Given the description of an element on the screen output the (x, y) to click on. 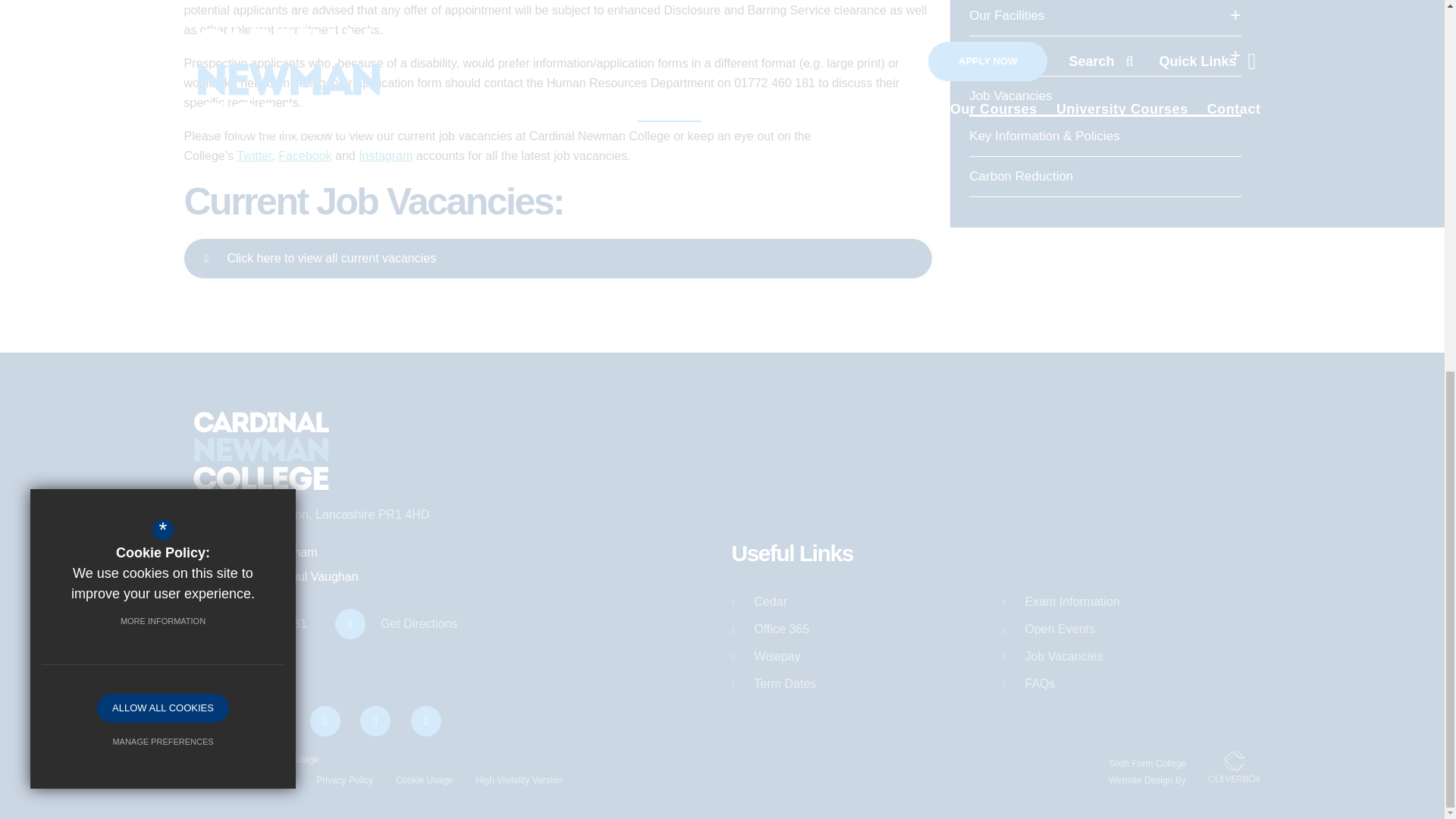
Follow Us (275, 720)
Get Directions (401, 624)
Cardinal Newman College (260, 450)
Follow Us (326, 720)
Call us on 01772 460181 (250, 624)
